Given the description of an element on the screen output the (x, y) to click on. 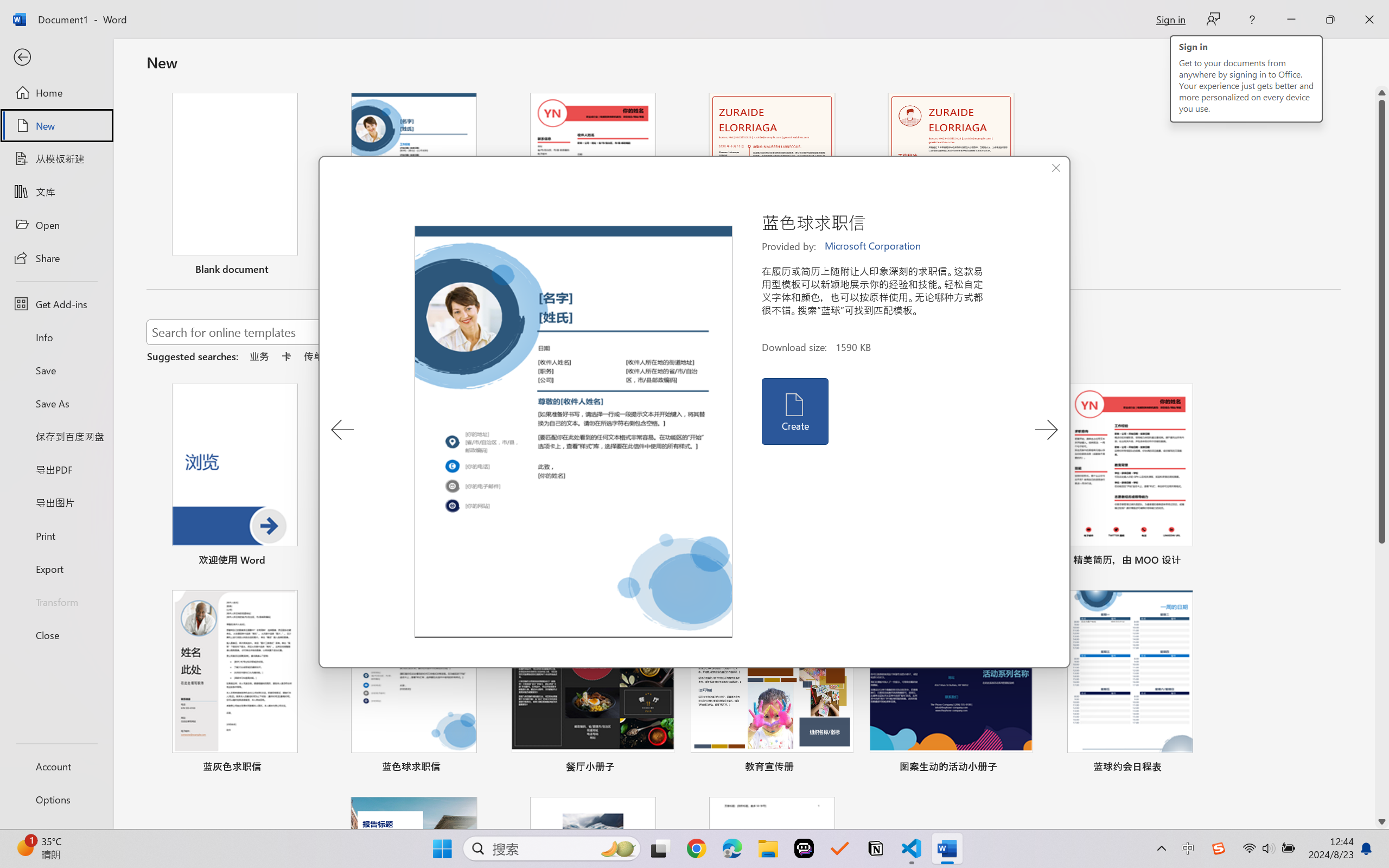
Blank document (234, 185)
Preview (573, 431)
Save As (56, 403)
Options (56, 798)
